Given the description of an element on the screen output the (x, y) to click on. 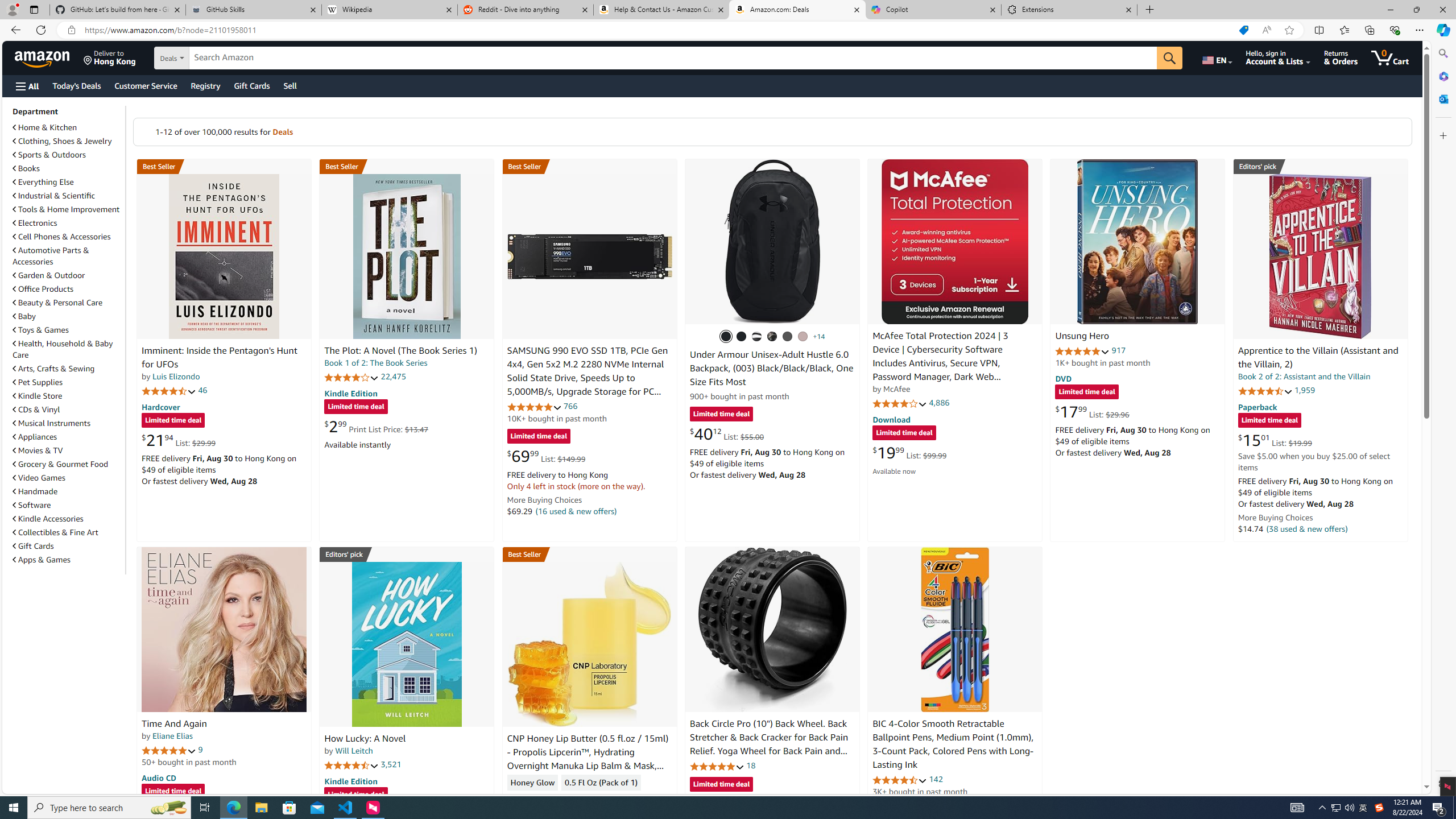
Industrial & Scientific (54, 195)
Kindle Accessories (47, 518)
Gift Cards (33, 545)
+14 (818, 336)
Everything Else (43, 181)
Best Seller in Heist Thrillers (406, 165)
Deliver to Hong Kong (109, 57)
Clothing, Shoes & Jewelry (67, 140)
Office Products (43, 289)
Copilot (933, 9)
Returns & Orders (1340, 57)
Amazon.com: Deals (797, 9)
Collectibles & Fine Art (56, 532)
Kindle Accessories (67, 518)
